Given the description of an element on the screen output the (x, y) to click on. 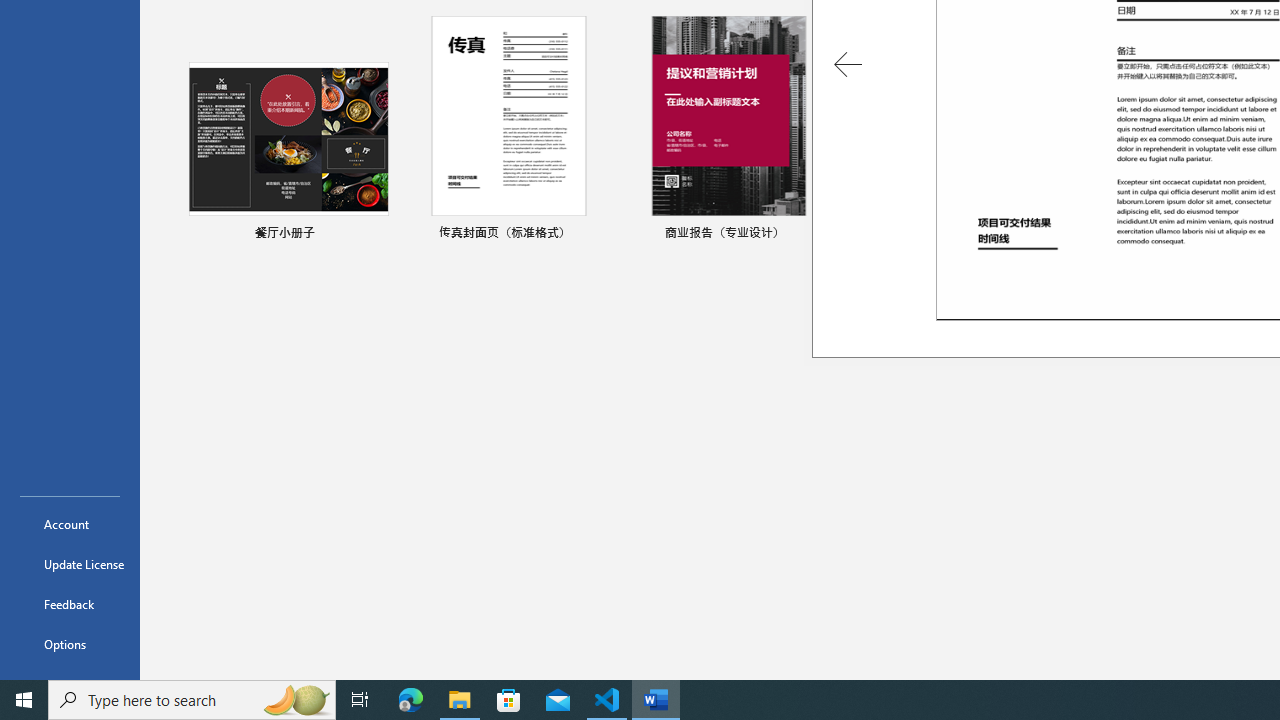
Pin to list (1255, 234)
Update License (69, 563)
Feedback (69, 603)
Account (69, 523)
Options (69, 643)
Previous Template (847, 64)
